Given the description of an element on the screen output the (x, y) to click on. 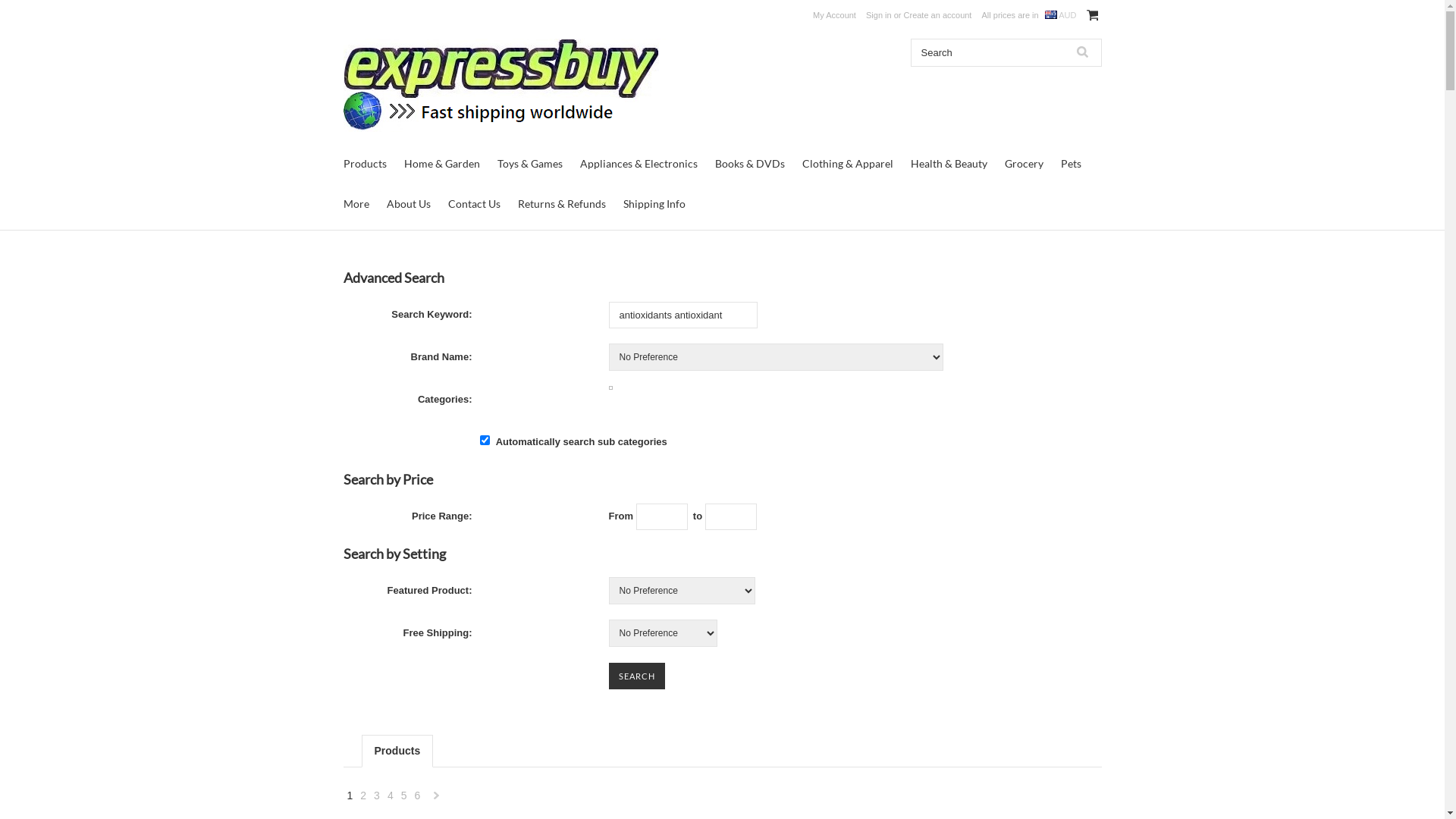
Home & Garden Element type: text (441, 162)
Appliances & Electronics Element type: text (637, 162)
Toys & Games Element type: text (529, 162)
About Us Element type: text (408, 203)
Clothing & Apparel Element type: text (847, 162)
My Account Element type: text (834, 14)
3 Element type: text (376, 795)
Contact Us Element type: text (473, 203)
More Element type: text (355, 203)
Products Element type: text (363, 162)
5 Element type: text (404, 795)
Sign in Element type: text (878, 14)
View Cart Element type: hover (1091, 14)
Create an account Element type: text (937, 14)
Shipping Info Element type: text (654, 203)
Grocery Element type: text (1023, 162)
6 Element type: text (417, 795)
Search Element type: text (636, 675)
Health & Beauty Element type: text (948, 162)
2 Element type: text (363, 795)
Books & DVDs Element type: text (749, 162)
4 Element type: text (390, 795)
Pets Element type: text (1070, 162)
Products Element type: text (396, 750)
Returns & Refunds Element type: text (561, 203)
Search Element type: hover (1082, 52)
